Given the description of an element on the screen output the (x, y) to click on. 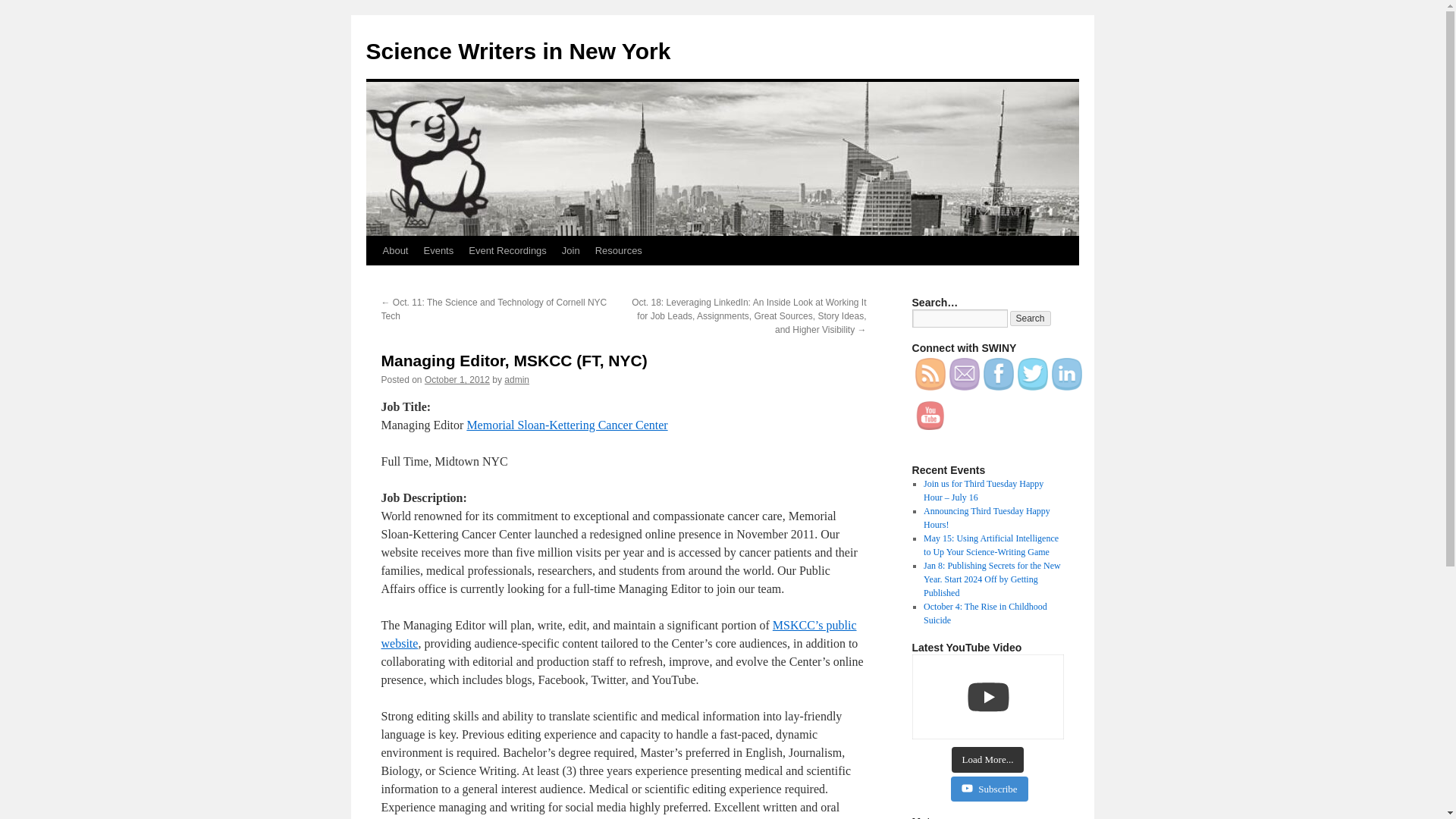
Search (1030, 318)
Events (437, 250)
Science Writers in New York (517, 50)
LinkedIn (1066, 373)
Memorial Sloan-Kettering Cancer Center (565, 424)
October 1, 2012 (457, 379)
About (394, 250)
admin (516, 379)
Announcing Third Tuesday Happy Hours! (986, 517)
Facebook (997, 373)
